Given the description of an element on the screen output the (x, y) to click on. 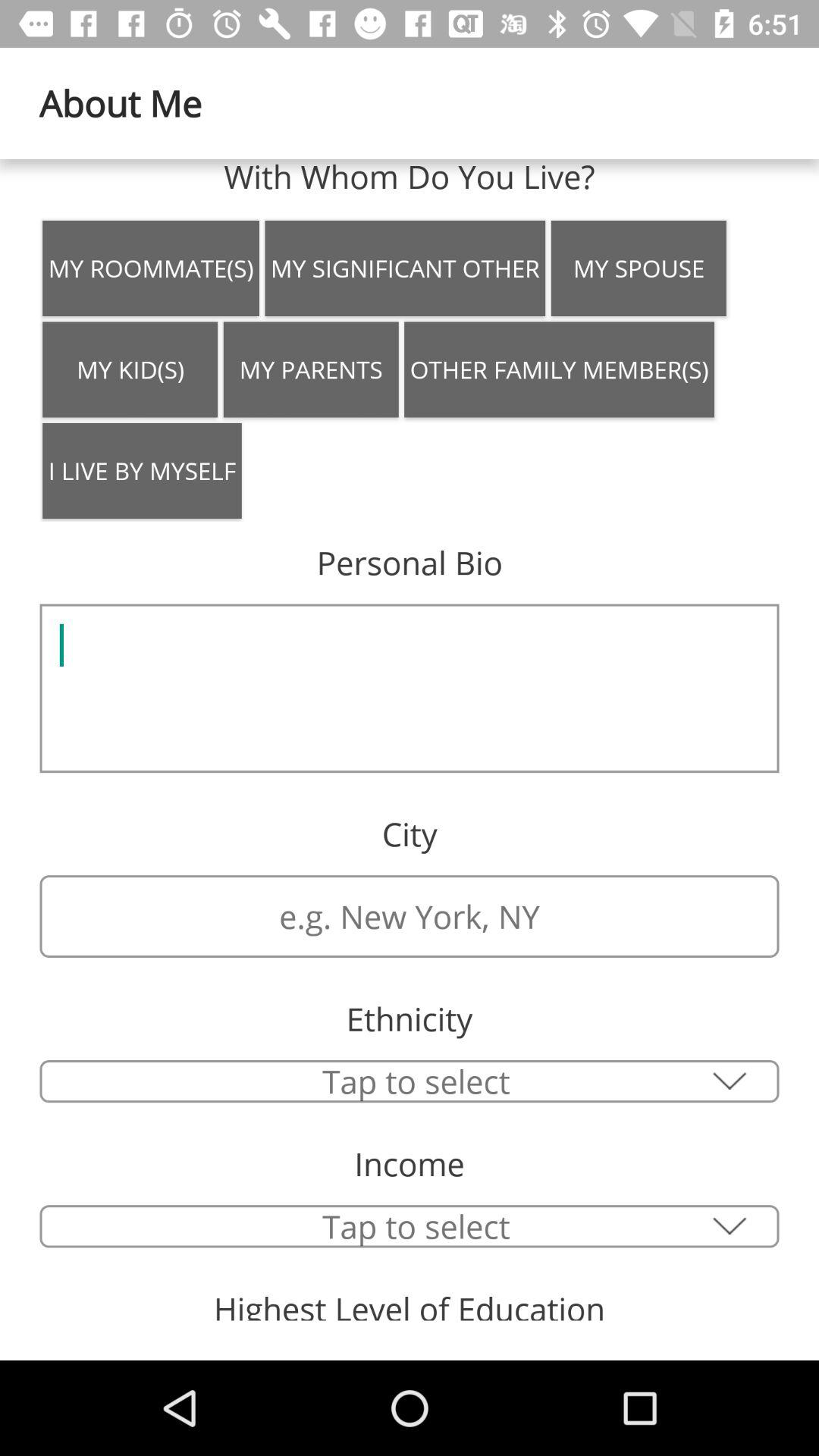
type your income (409, 1226)
